Given the description of an element on the screen output the (x, y) to click on. 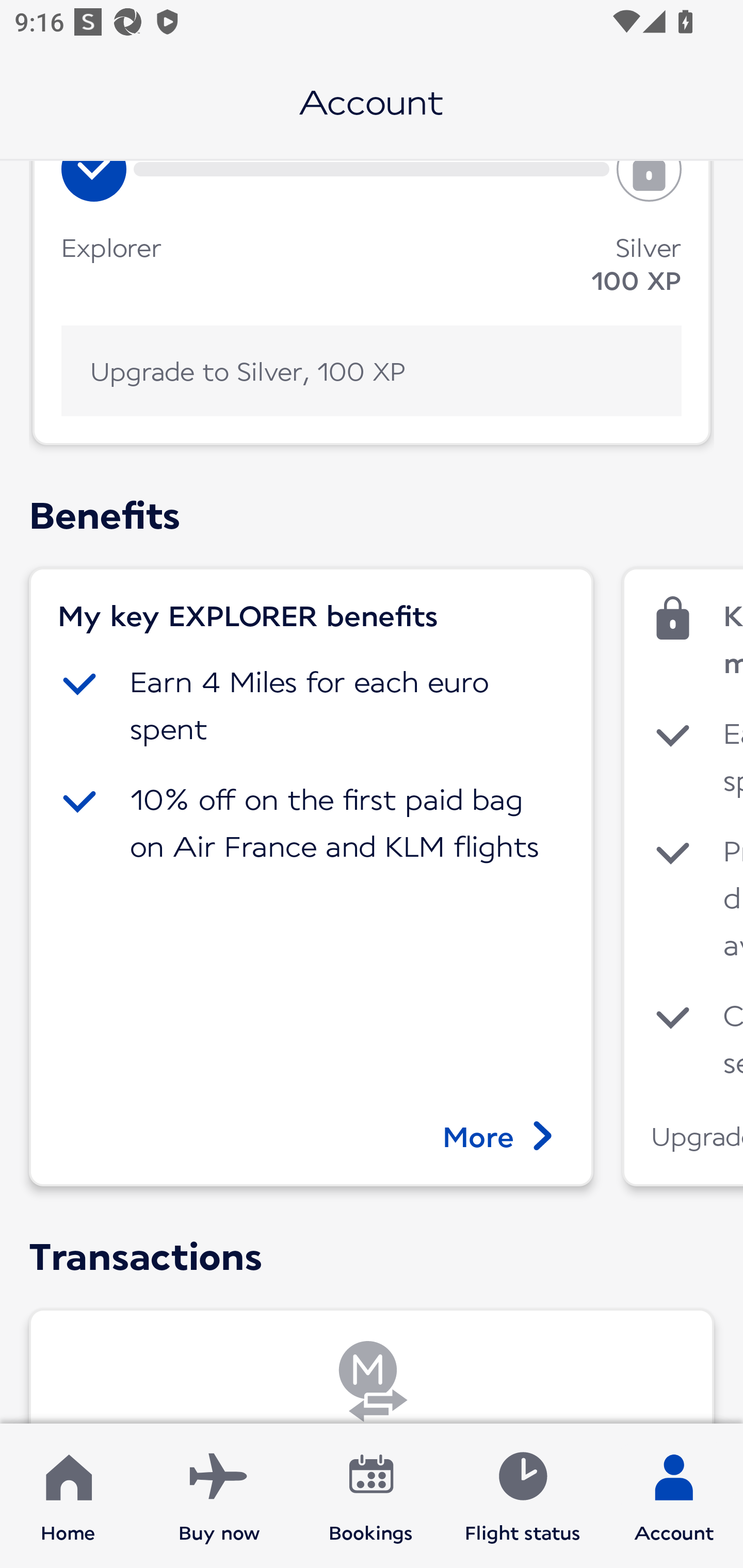
Home (68, 1495)
Buy now (219, 1495)
Bookings (370, 1495)
Flight status (522, 1495)
